Given the description of an element on the screen output the (x, y) to click on. 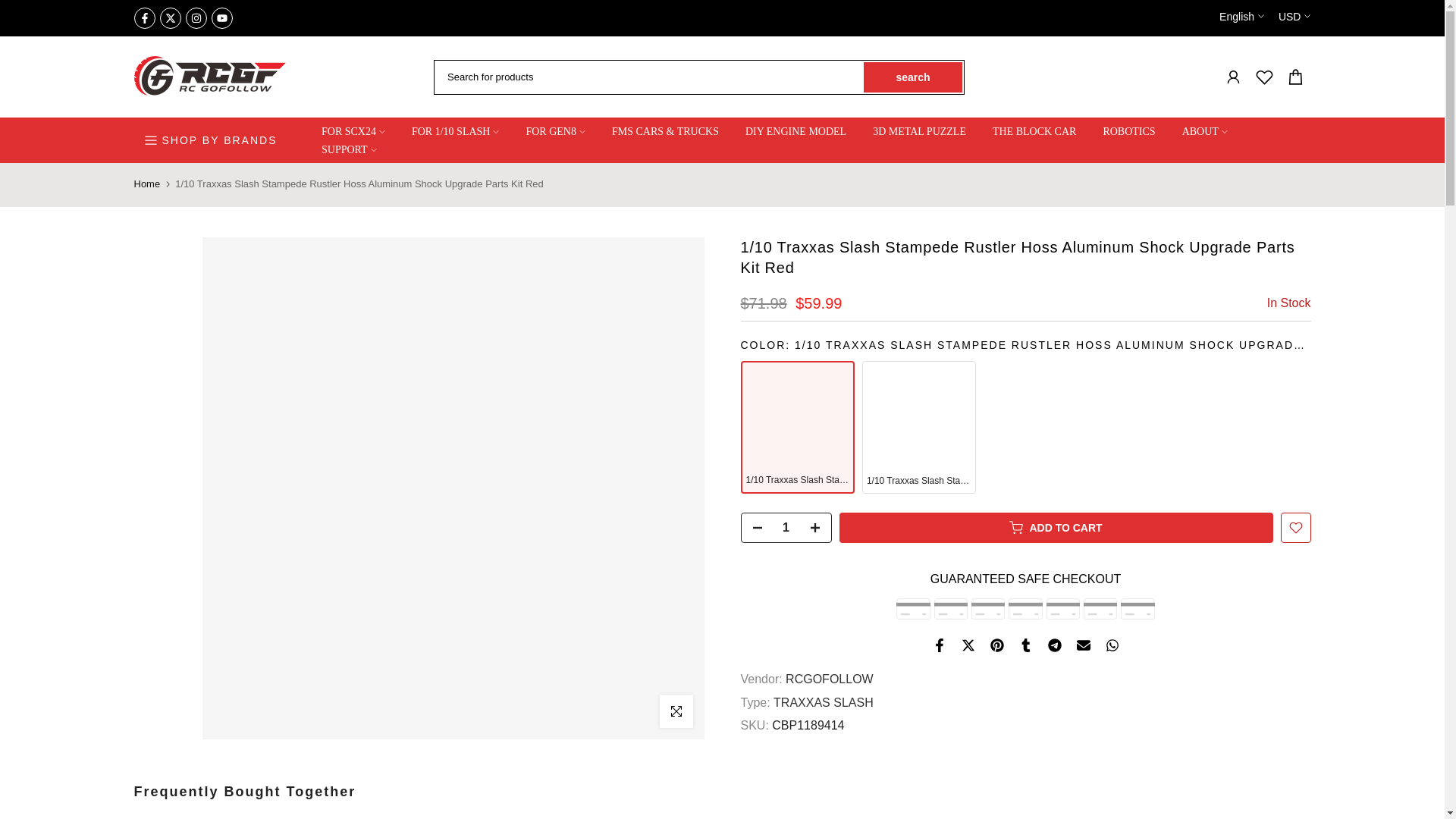
FOR SCX24 (352, 131)
search (912, 77)
Skip to content (10, 7)
USD (1294, 16)
Follow on YouTube (221, 17)
Follow on Instagram (195, 17)
Follow on Facebook (143, 17)
English (1241, 16)
Follow on Twitter (169, 17)
1 (786, 527)
